Given the description of an element on the screen output the (x, y) to click on. 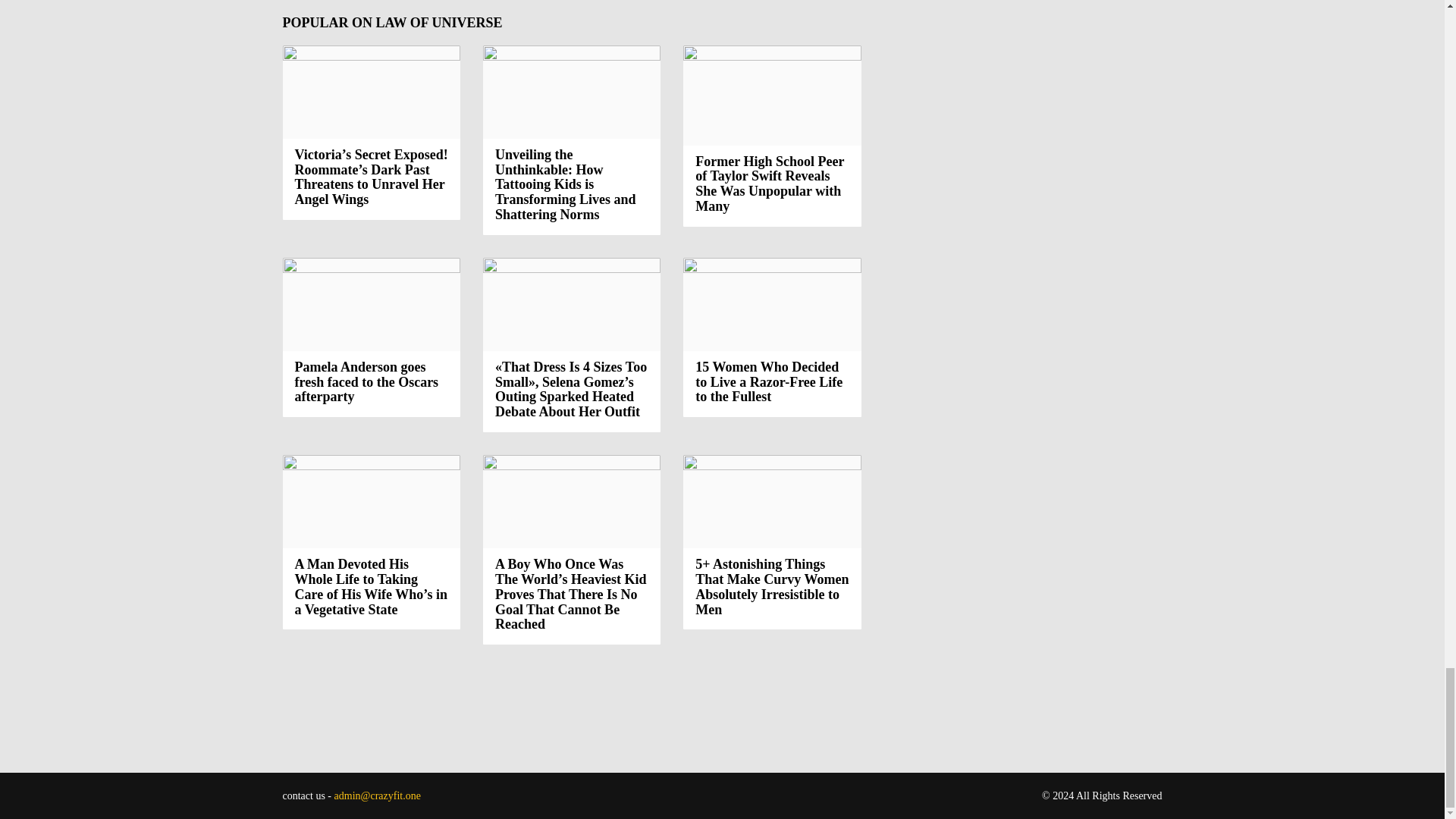
Pamela Anderson goes fresh faced to the Oscars afterparty (366, 381)
Pamela Anderson goes fresh faced to the Oscars afterparty (371, 304)
